Given the description of an element on the screen output the (x, y) to click on. 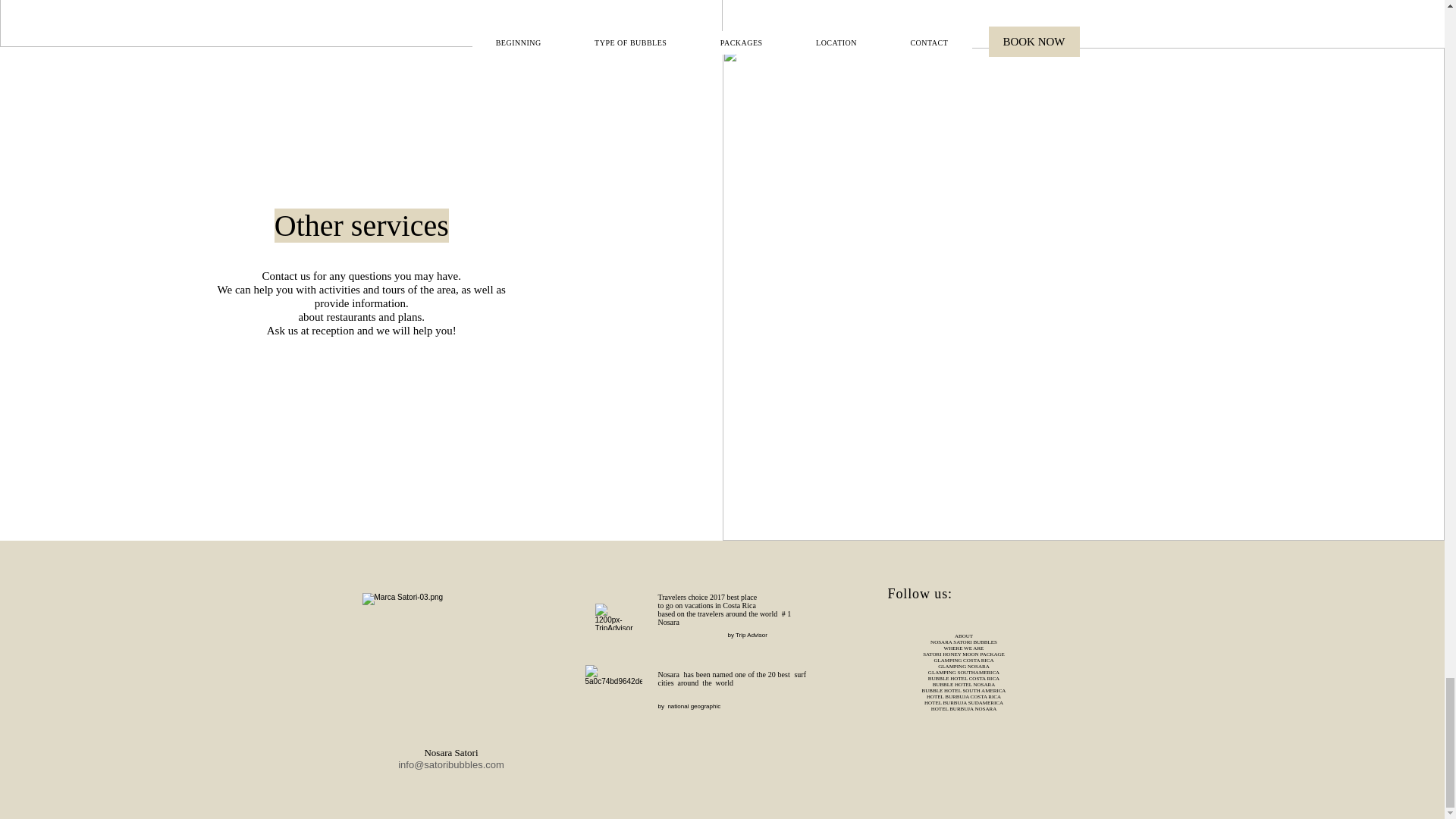
ABOUT (963, 636)
NOSARA SATORI BUBBLES (963, 642)
HOTEL BURBUJA SUDAMERICA (963, 702)
BUBBLE HOTEL NOSARA (964, 684)
BUBBLE HOTEL COSTA RICA (963, 677)
HOTEL BURBUJA COSTA RICA (963, 696)
GLAMPING COSTA RICA (962, 660)
SATORI HONEY MOON PACKAGE (963, 654)
GLAMPING NOSARA (962, 666)
HOTEL BURBUJA NOSARA (963, 708)
